Given the description of an element on the screen output the (x, y) to click on. 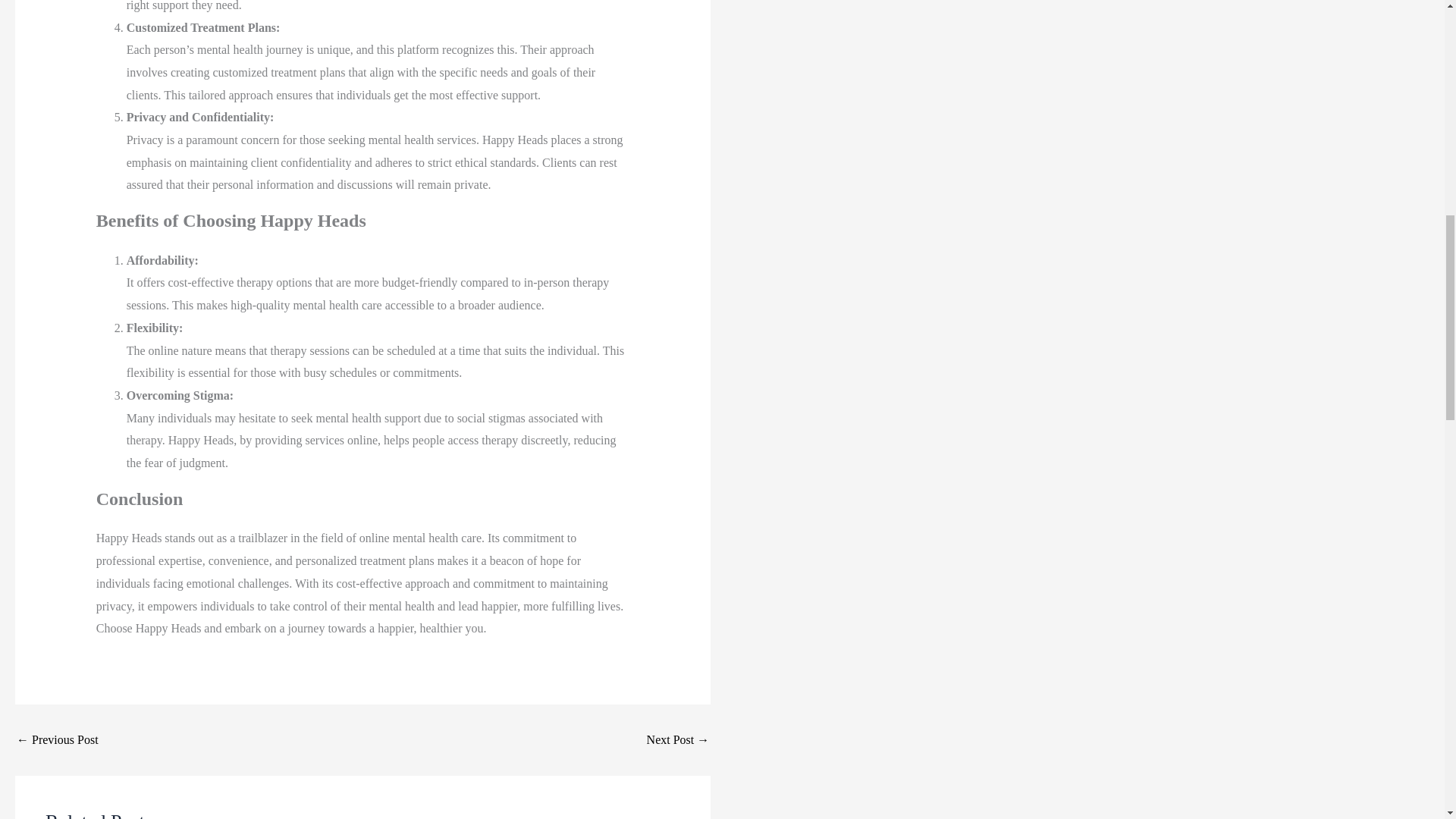
Marriage counseling services (678, 739)
Rediscovering Intimacy: Navigating Sexual Dysfunction (57, 739)
